Given the description of an element on the screen output the (x, y) to click on. 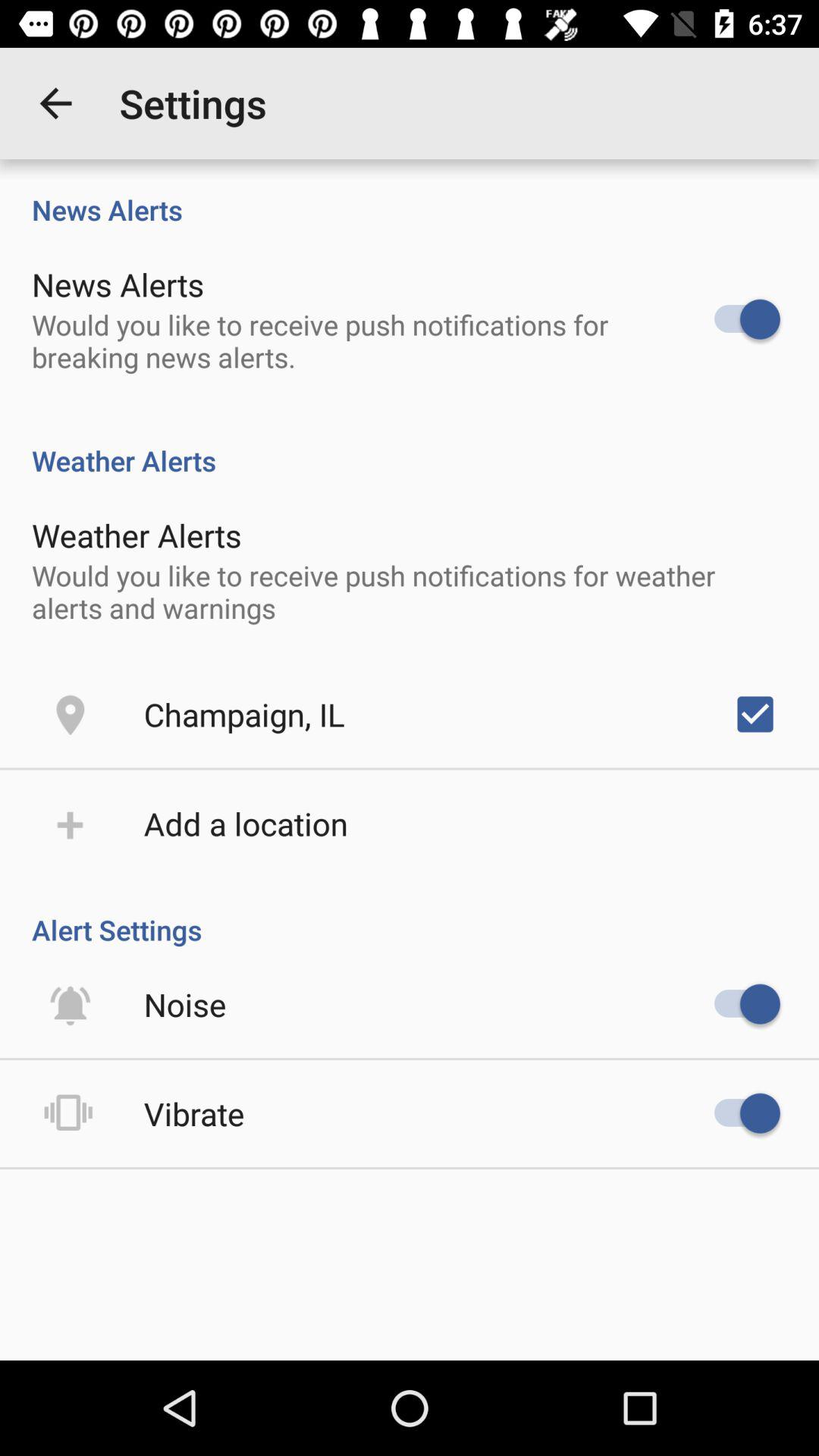
turn on item below would you like (243, 713)
